Given the description of an element on the screen output the (x, y) to click on. 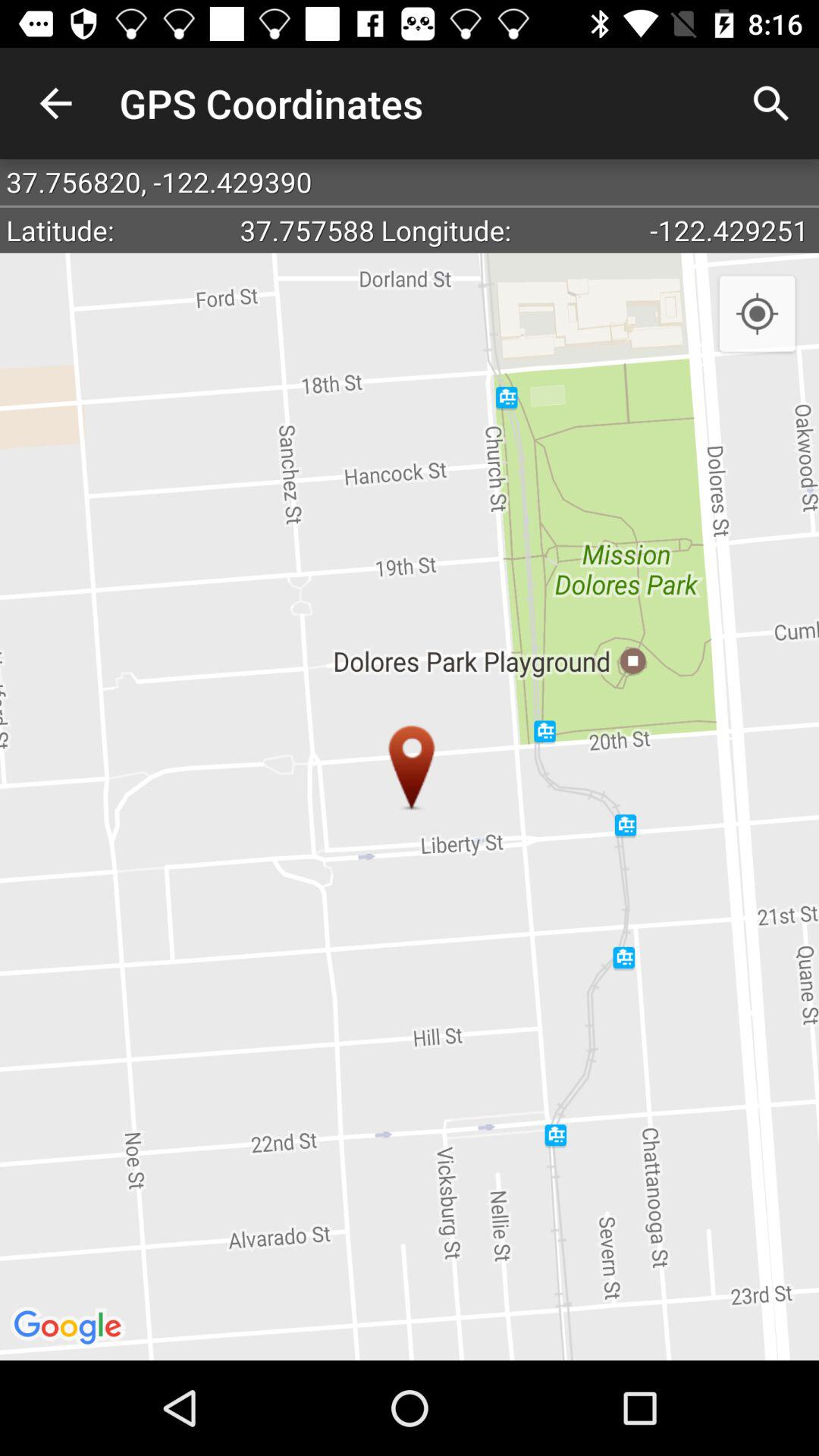
open the item to the right of the gps coordinates app (771, 103)
